Given the description of an element on the screen output the (x, y) to click on. 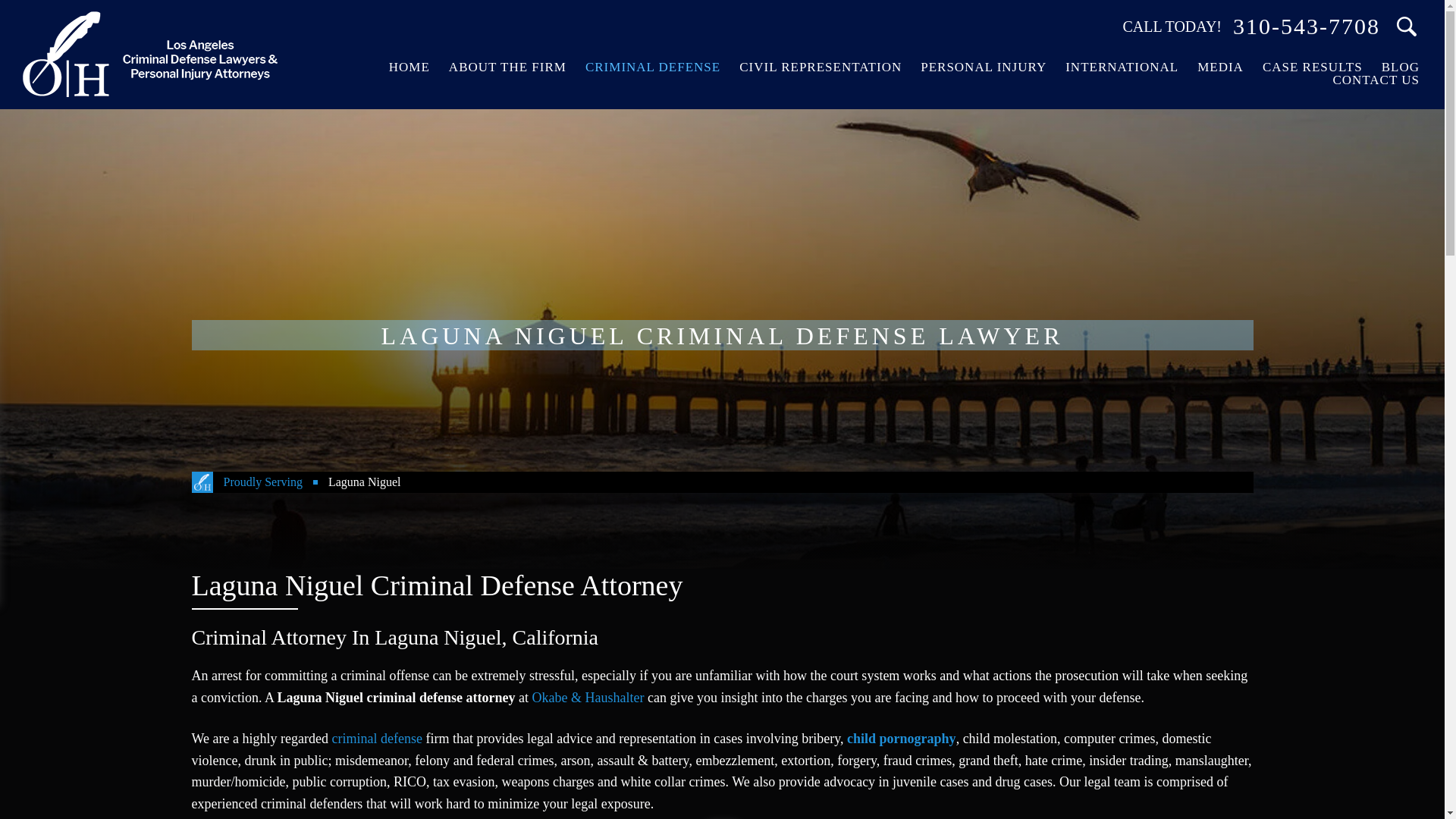
CRIMINAL DEFENSE (652, 66)
ABOUT THE FIRM (507, 66)
Search Here (1406, 26)
About The Firm (507, 66)
HOME (409, 66)
310-543-7708 (1306, 26)
Home (409, 66)
310-543-7708 (1306, 26)
